Given the description of an element on the screen output the (x, y) to click on. 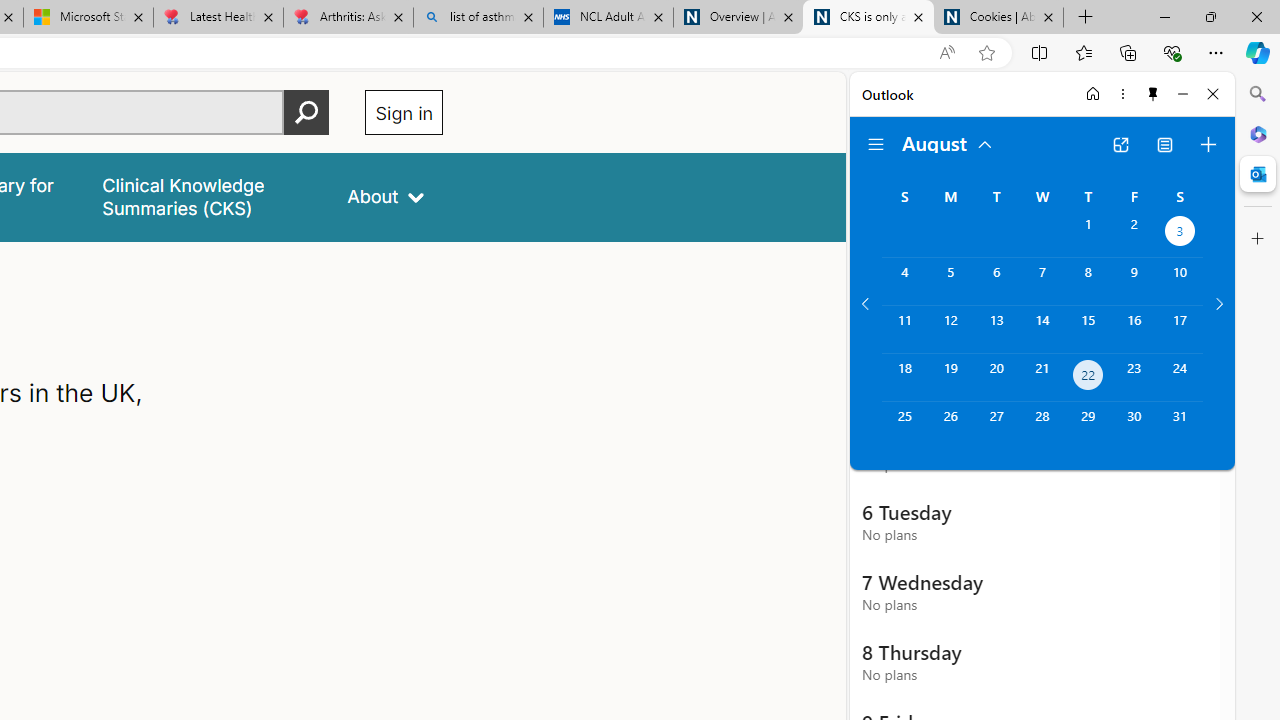
Perform search (307, 112)
Create event (1208, 144)
Monday, August 5, 2024.  (950, 281)
Friday, August 16, 2024.  (1134, 329)
Tuesday, August 27, 2024.  (996, 425)
Thursday, August 1, 2024.  (1088, 233)
Friday, August 2, 2024.  (1134, 233)
Thursday, August 29, 2024.  (1088, 425)
Sunday, August 25, 2024.  (904, 425)
